Given the description of an element on the screen output the (x, y) to click on. 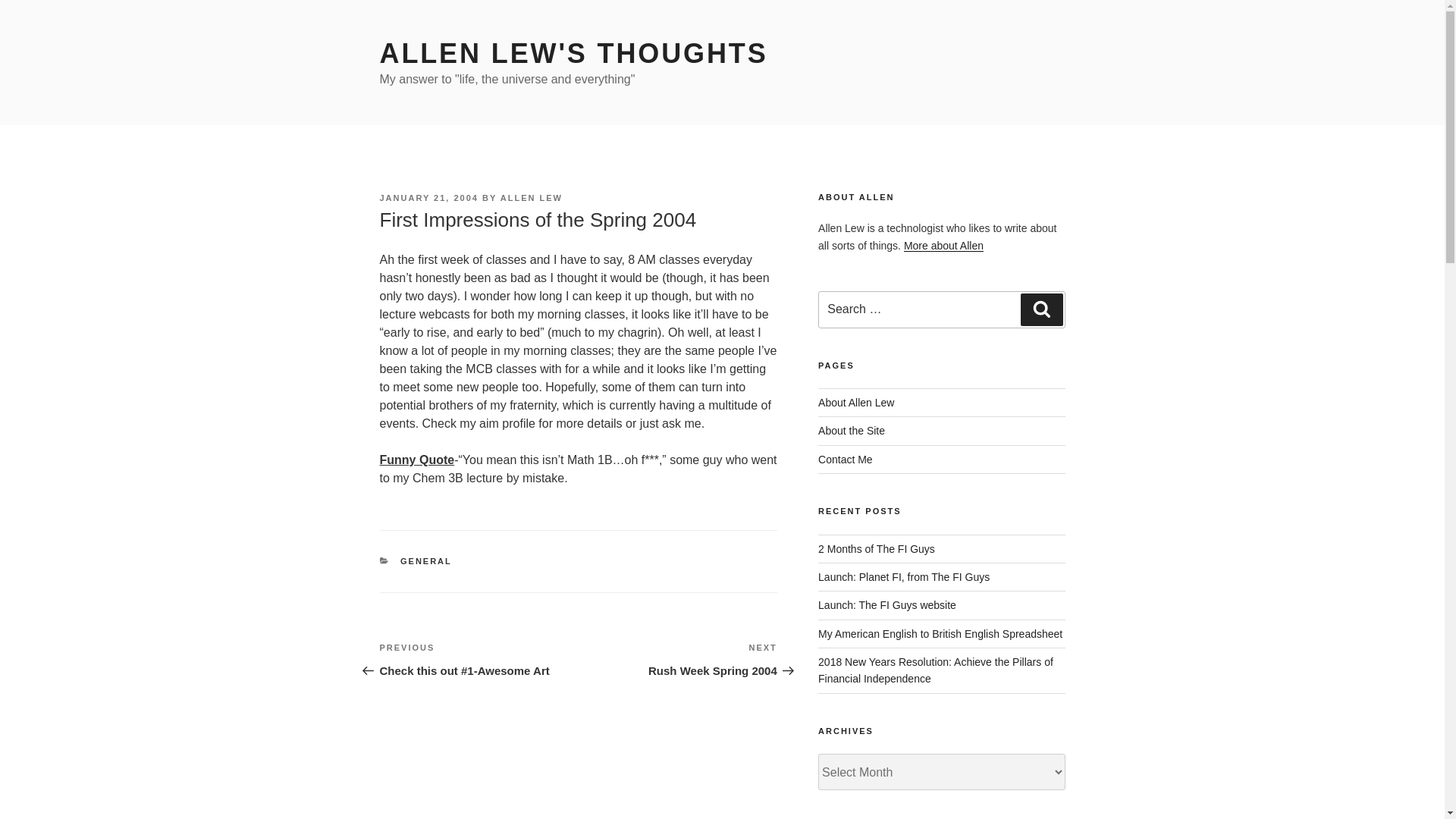
About the Site (851, 430)
ALLEN LEW'S THOUGHTS (572, 52)
2 Months of The FI Guys (876, 548)
Launch: Planet FI, from The FI Guys (904, 576)
Launch: The FI Guys website (887, 604)
GENERAL (425, 560)
About Allen Lew (677, 659)
JANUARY 21, 2004 (855, 402)
My American English to British English Spreadsheet (427, 197)
ALLEN LEW (940, 633)
Contact Me (531, 197)
More about Allen (845, 459)
Search (944, 245)
